Given the description of an element on the screen output the (x, y) to click on. 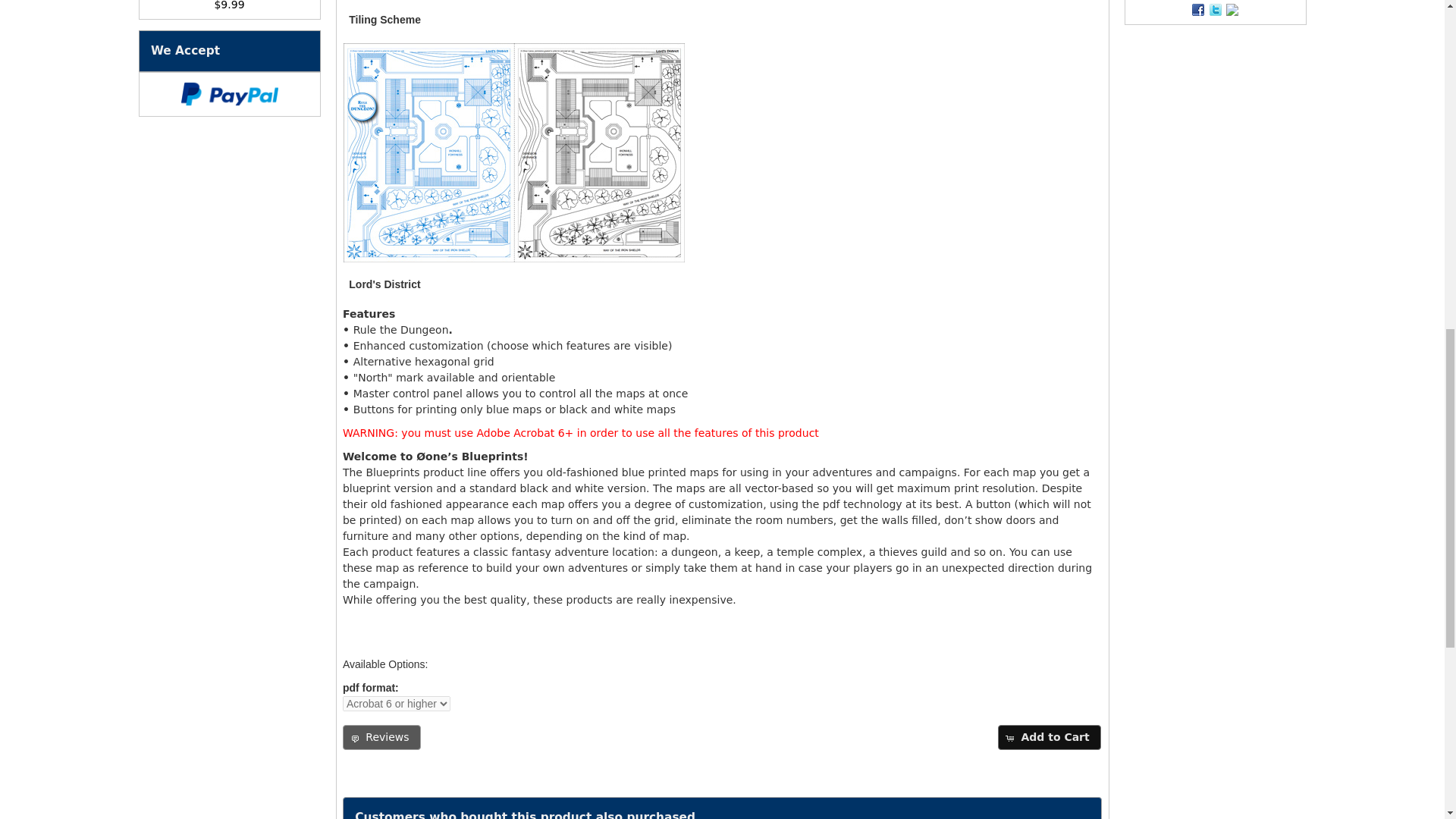
Reviews (381, 737)
Share on Facebook (1198, 9)
Pin It (1232, 9)
Add to Cart (1048, 737)
Share on Twitter (1215, 9)
